Given the description of an element on the screen output the (x, y) to click on. 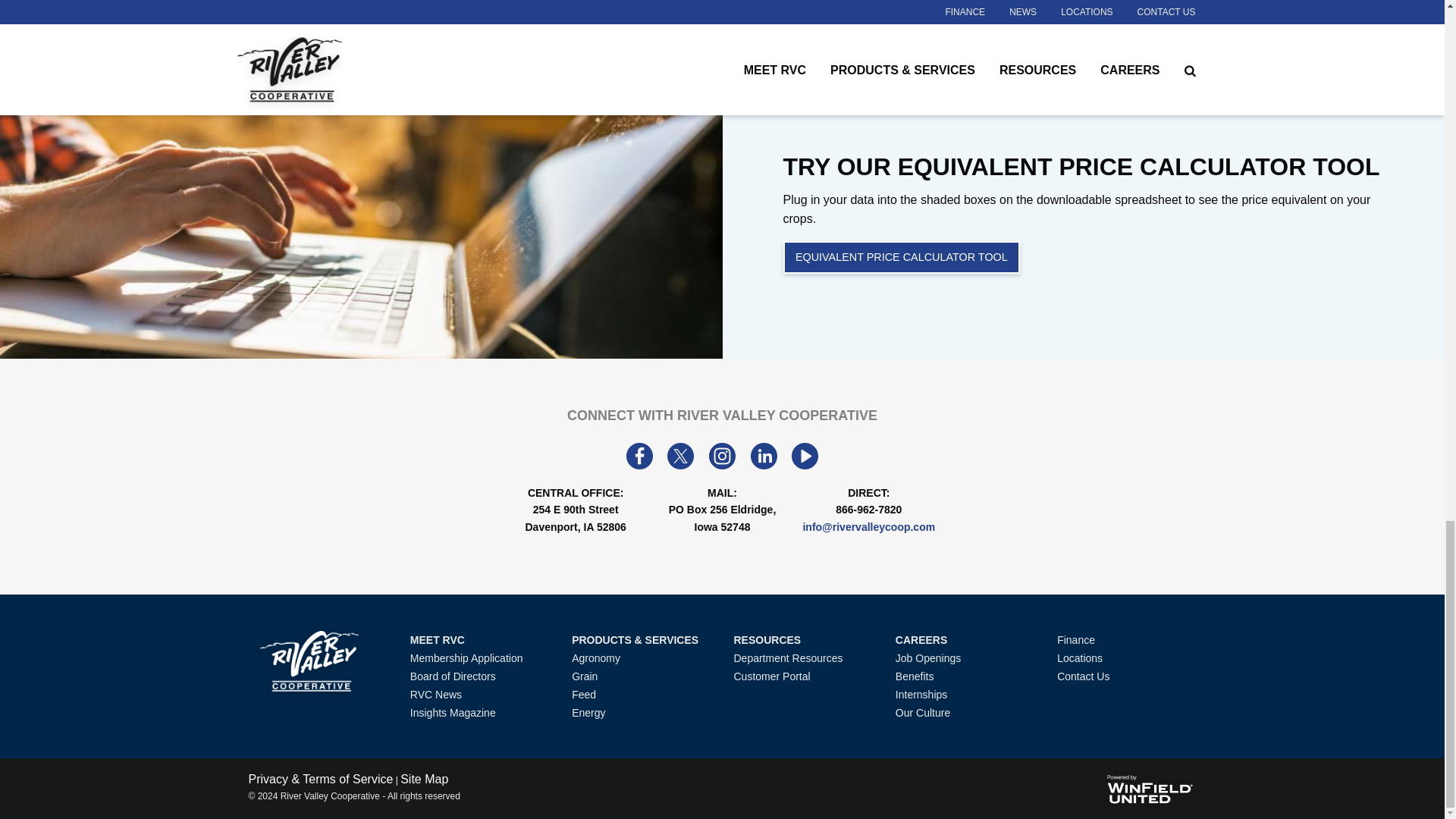
customer-portal (771, 676)
agronomy (596, 657)
resources (766, 639)
membership-application (466, 657)
products-services (635, 639)
department-resources (788, 657)
grain (584, 676)
EQUIVALENT PRICE CALCULATOR TOOL (901, 256)
insights-magazine (453, 712)
meet-rvc (437, 639)
